Given the description of an element on the screen output the (x, y) to click on. 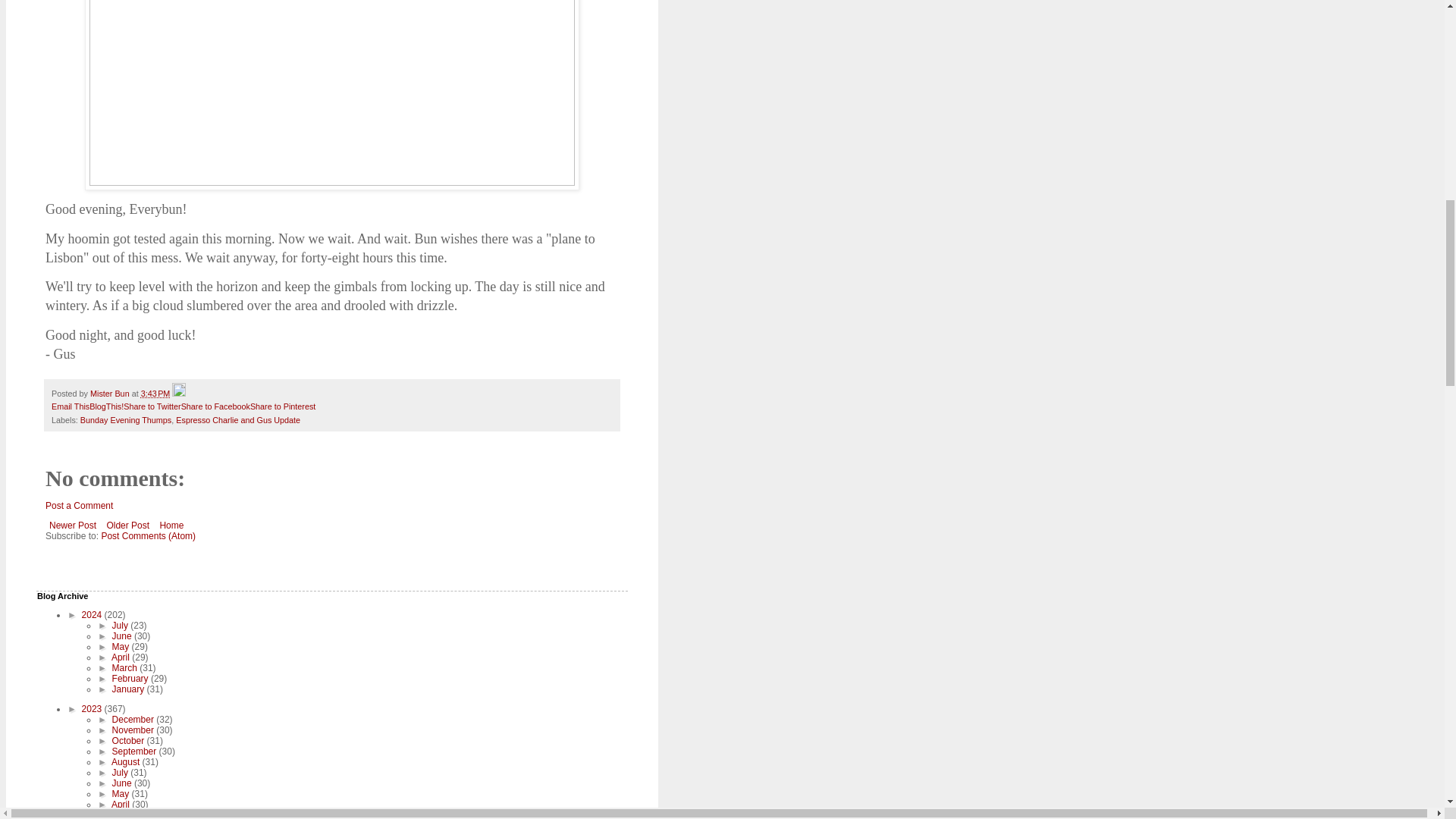
Share to Pinterest (282, 406)
January (129, 688)
Email This (69, 406)
May (122, 646)
March (125, 667)
Espresso Charlie and Gus Update (237, 420)
2024 (92, 614)
author profile (111, 393)
Bunday Evening Thumps (125, 420)
April (122, 656)
Email This (69, 406)
Share to Facebook (215, 406)
Newer Post (72, 525)
Post a Comment (79, 505)
Home (171, 525)
